Given the description of an element on the screen output the (x, y) to click on. 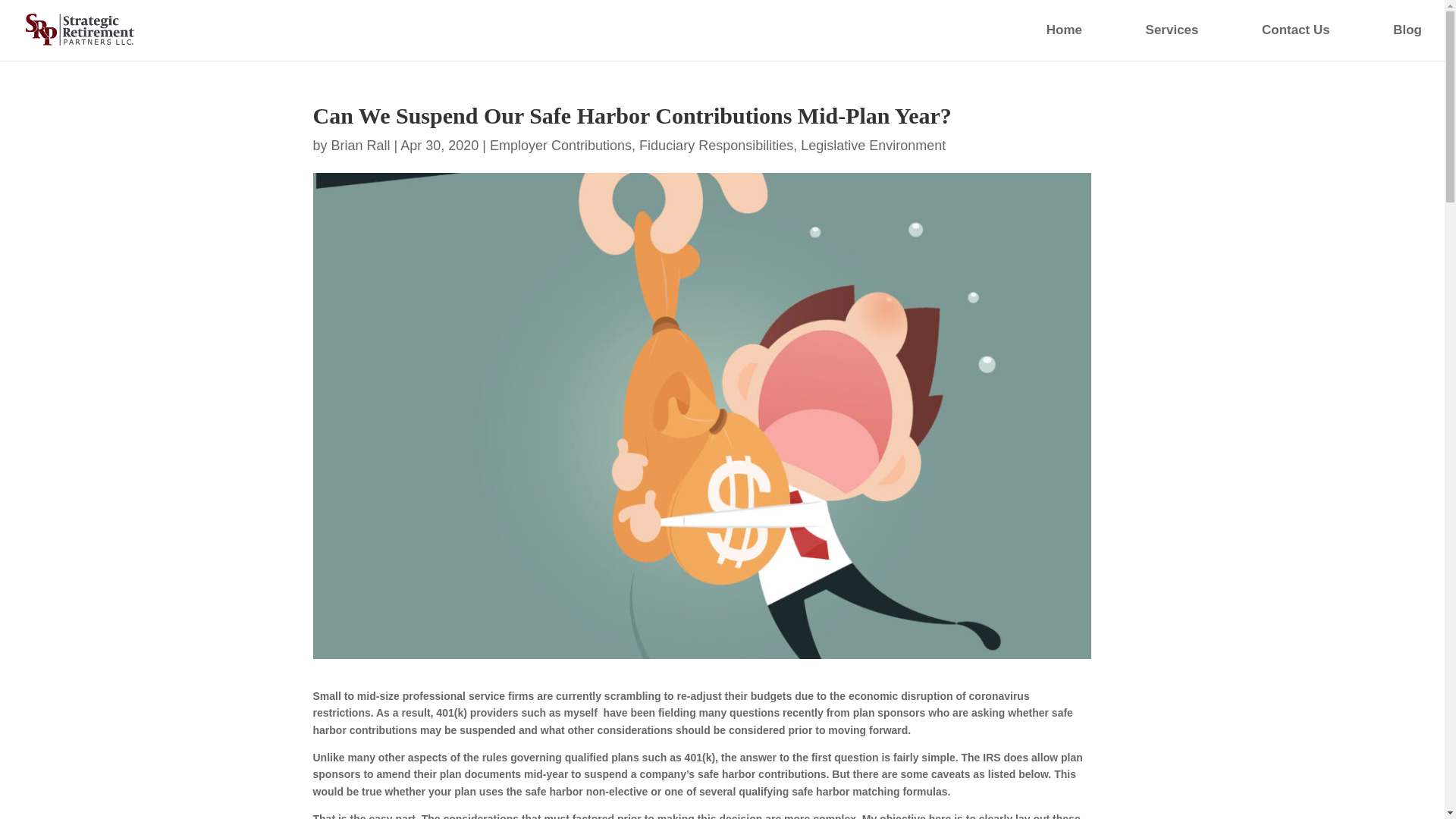
Fiduciary Responsibilities (716, 145)
Blog (1385, 42)
Brian Rall (360, 145)
Home (1042, 42)
Contact Us (1273, 42)
Employer Contributions (560, 145)
Services (1150, 42)
Legislative Environment (872, 145)
Posts by Brian Rall (360, 145)
